Given the description of an element on the screen output the (x, y) to click on. 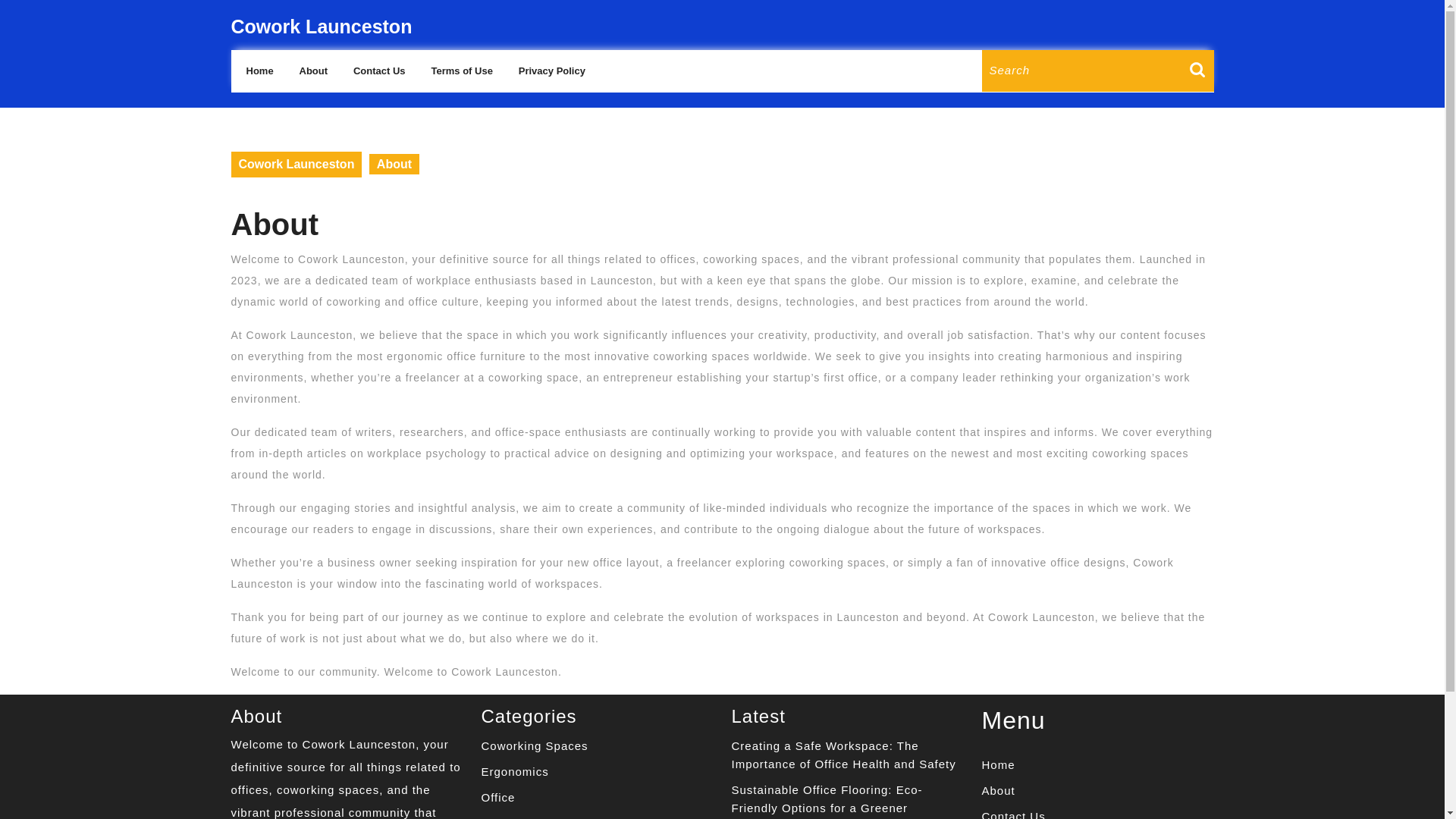
Search (1200, 77)
Cowork Launceston (321, 25)
About (997, 789)
Uncategorized (522, 817)
Search (1200, 77)
About (313, 71)
Cowork Launceston (295, 164)
Coworking Spaces (534, 745)
Search (1200, 77)
Office (497, 797)
Home (997, 764)
Home (259, 71)
Terms of Use (461, 71)
